Given the description of an element on the screen output the (x, y) to click on. 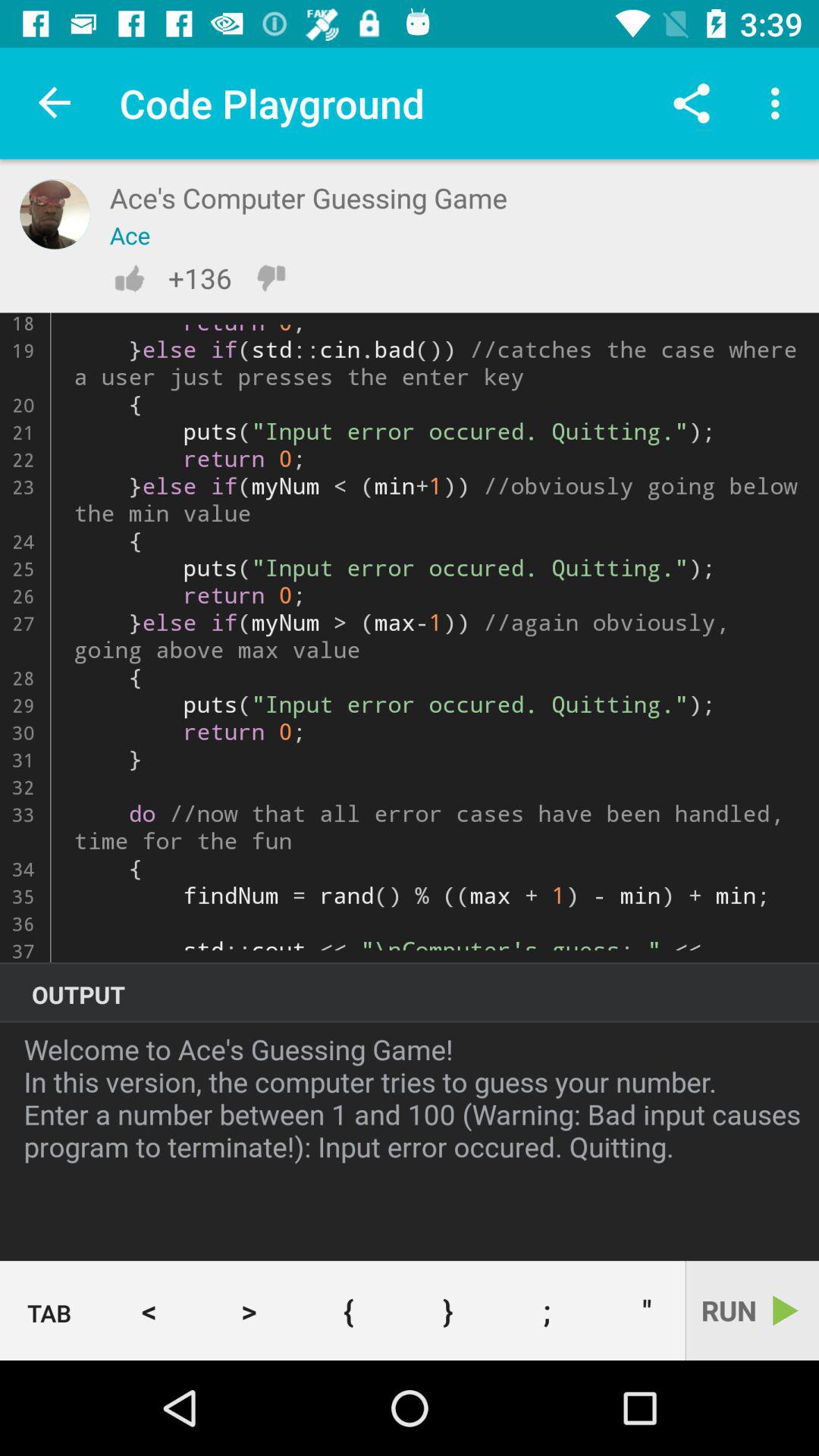
dislikes are notified (270, 277)
